Given the description of an element on the screen output the (x, y) to click on. 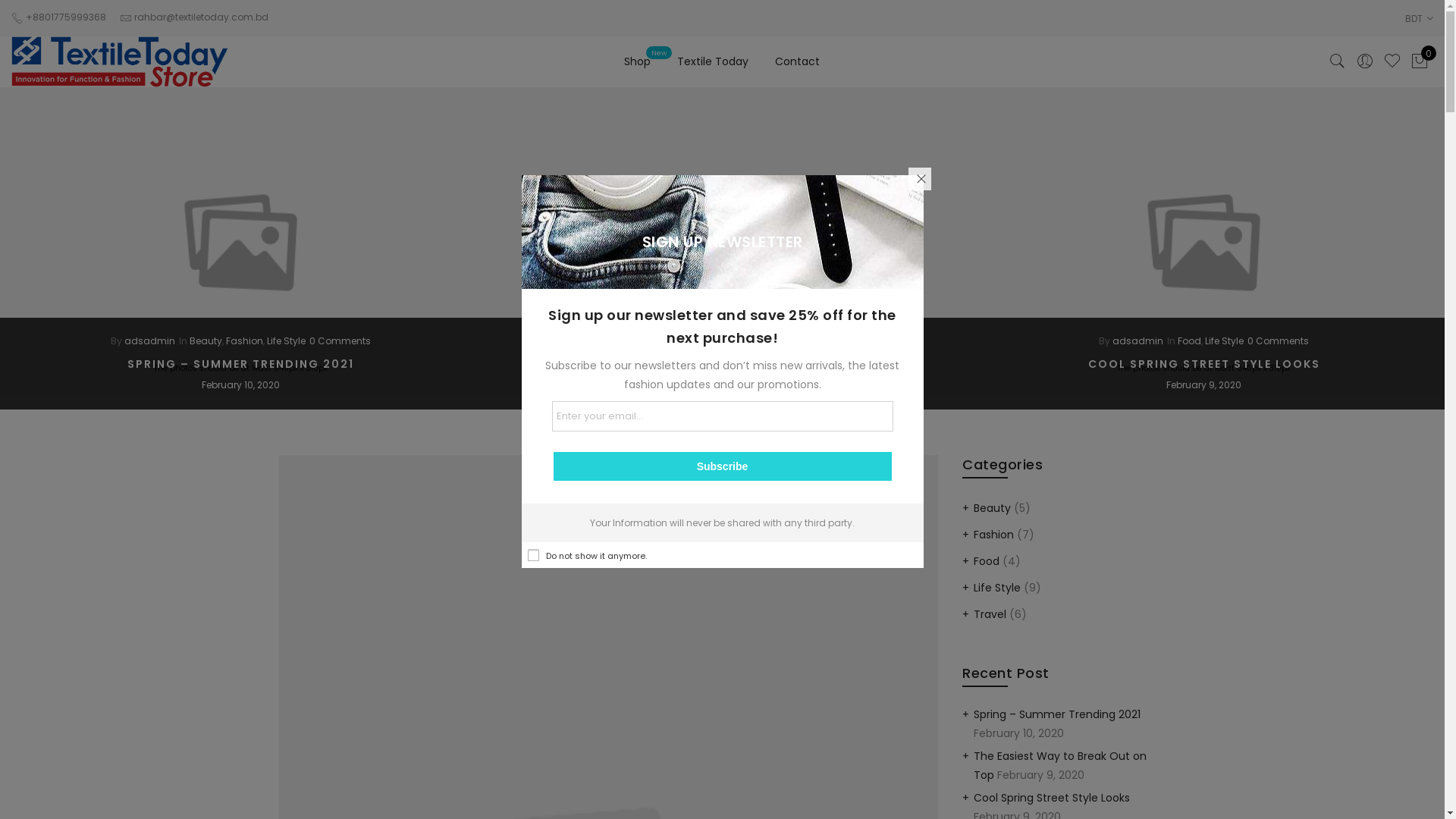
February 9, 2020 Element type: text (721, 385)
Food Element type: text (1189, 341)
0 Comments Element type: text (1277, 341)
Subscribe Element type: text (722, 465)
Food Element type: text (986, 560)
Shop Element type: text (637, 61)
February 10, 2020 Element type: text (240, 385)
February 9, 2020 Element type: text (1203, 385)
Fashion Element type: text (244, 341)
2 Comments Element type: text (812, 341)
THE EASIEST WAY TO BREAK OUT ON TOP Element type: text (721, 364)
Food Element type: text (692, 341)
0 Element type: text (1419, 61)
COOL SPRING STREET STYLE LOOKS Element type: text (1203, 364)
Life Style Element type: text (727, 341)
rahbar@textiletoday.com.bd Element type: text (201, 16)
Travel Element type: text (989, 613)
0 Comments Element type: text (339, 341)
Travel Element type: text (764, 341)
Fashion Element type: text (993, 534)
The photos should be at least 640px x 310px Element type: text (722, 242)
The photos should be at least 640px x 310px Element type: text (240, 242)
The Easiest Way to Break Out on Top Element type: text (1059, 764)
adsadmin Element type: text (1137, 341)
Beauty Element type: text (205, 341)
Beauty Element type: text (991, 507)
View your Wishlist Element type: hover (1391, 61)
adsadmin Element type: text (149, 341)
Contact Element type: text (797, 61)
Textile Today Element type: text (712, 61)
Life Style Element type: text (996, 587)
adsadmin Element type: text (640, 341)
Search Element type: hover (1337, 61)
The photos should be at least 640px x 310px Element type: text (1203, 242)
Life Style Element type: text (285, 341)
Cool Spring Street Style Looks Element type: text (1051, 797)
Life Style Element type: text (1223, 341)
